Given the description of an element on the screen output the (x, y) to click on. 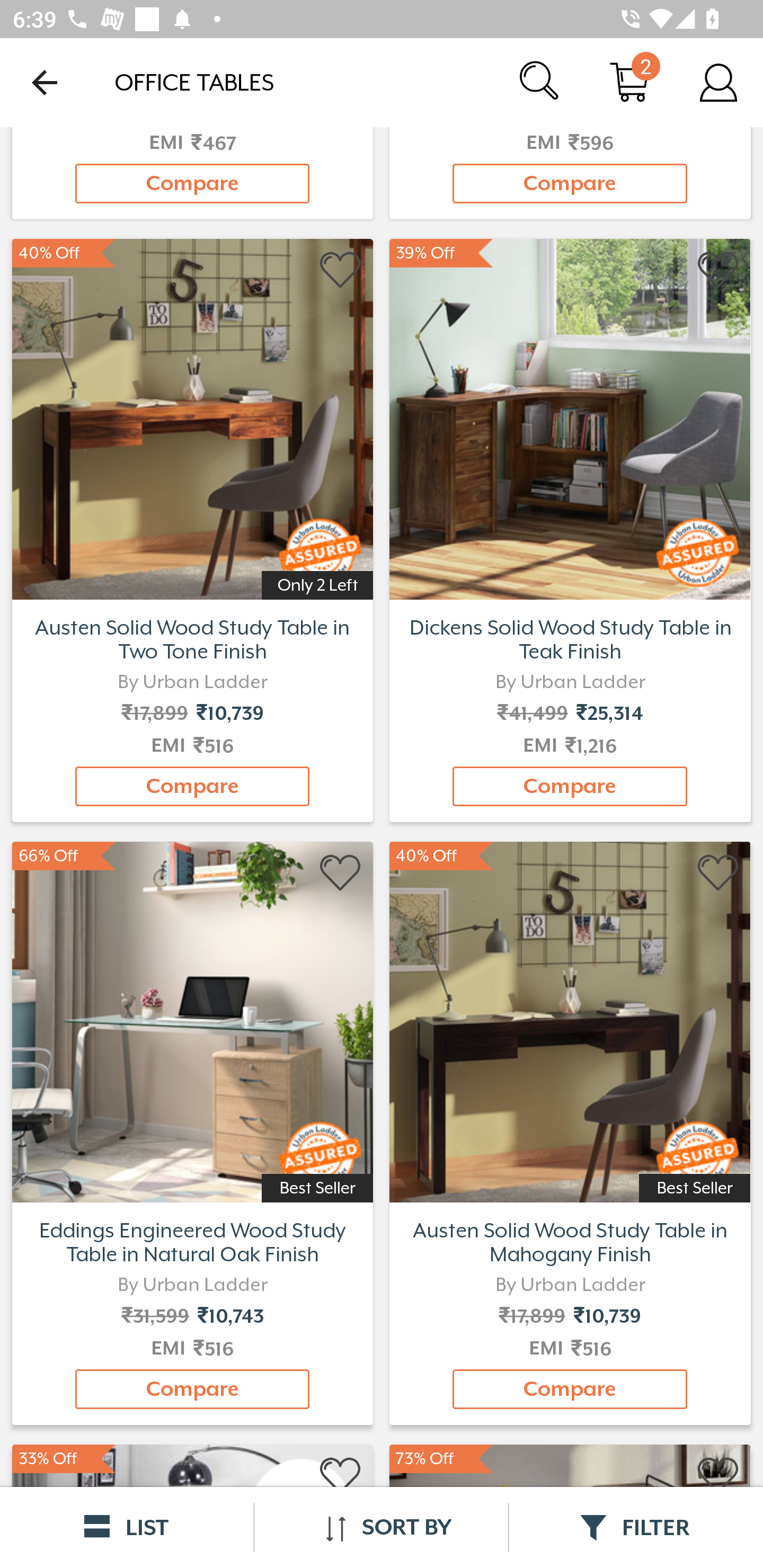
Navigate up (44, 82)
Search (540, 81)
Cart (629, 81)
Account Details (718, 81)
Compare (192, 183)
Compare (569, 183)
 (341, 270)
 (718, 270)
Compare (192, 785)
Compare (569, 785)
 (341, 873)
 (718, 873)
Compare (192, 1388)
Compare (569, 1388)
 (341, 1476)
 (718, 1476)
 LIST (127, 1527)
SORT BY (381, 1527)
 FILTER (635, 1527)
